Given the description of an element on the screen output the (x, y) to click on. 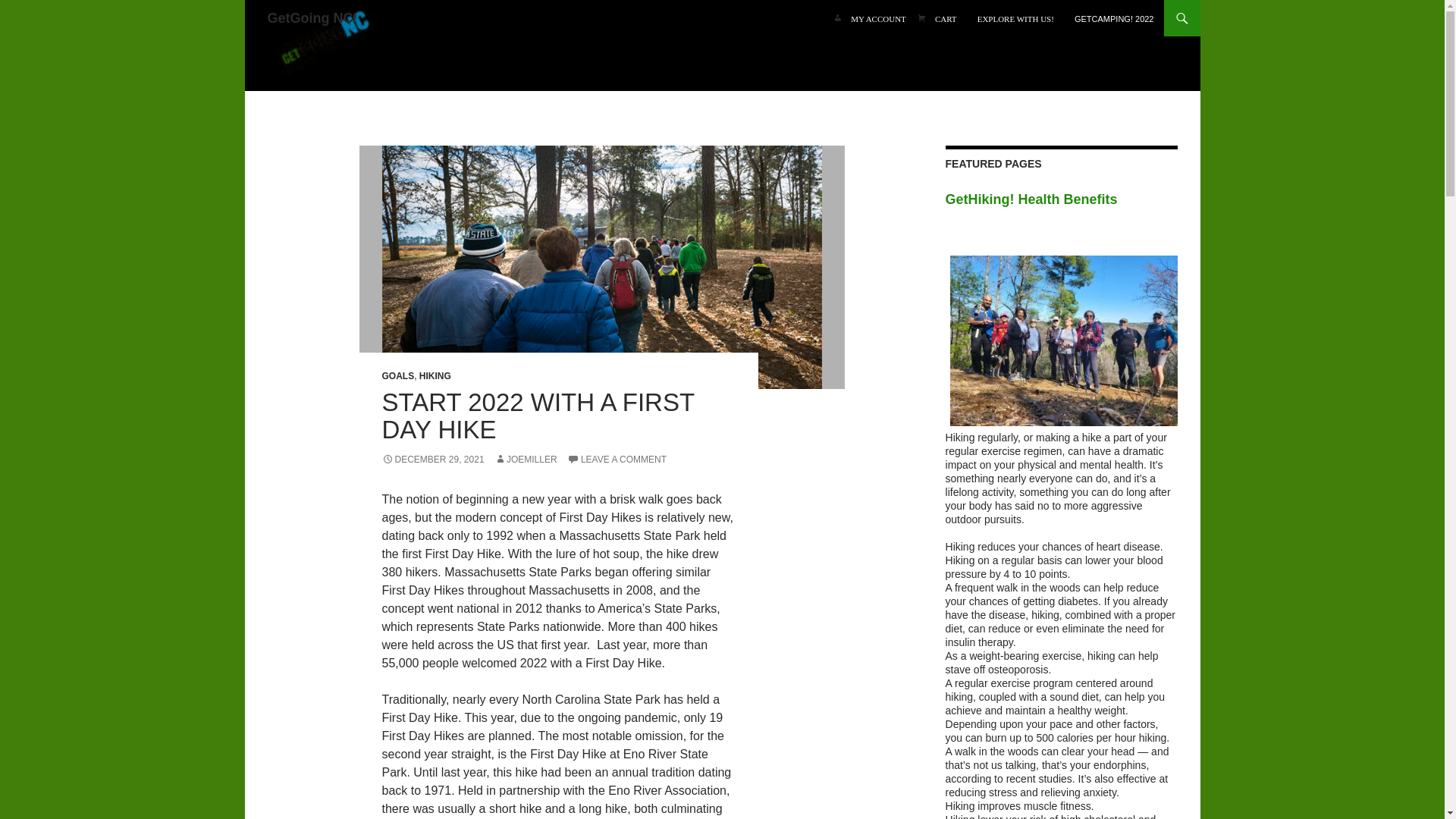
GETCAMPING! 2022 (1114, 18)
Visit Cart (946, 18)
EXPLORE WITH US! (1015, 18)
Login (878, 18)
JOEMILLER (526, 459)
HIKING (435, 376)
CART (946, 18)
GOALS (397, 376)
DECEMBER 29, 2021 (432, 459)
GetHiking! Health Benefits (1060, 199)
MY ACCOUNT (878, 18)
GetGoing NC! (323, 45)
LEAVE A COMMENT (616, 459)
